Given the description of an element on the screen output the (x, y) to click on. 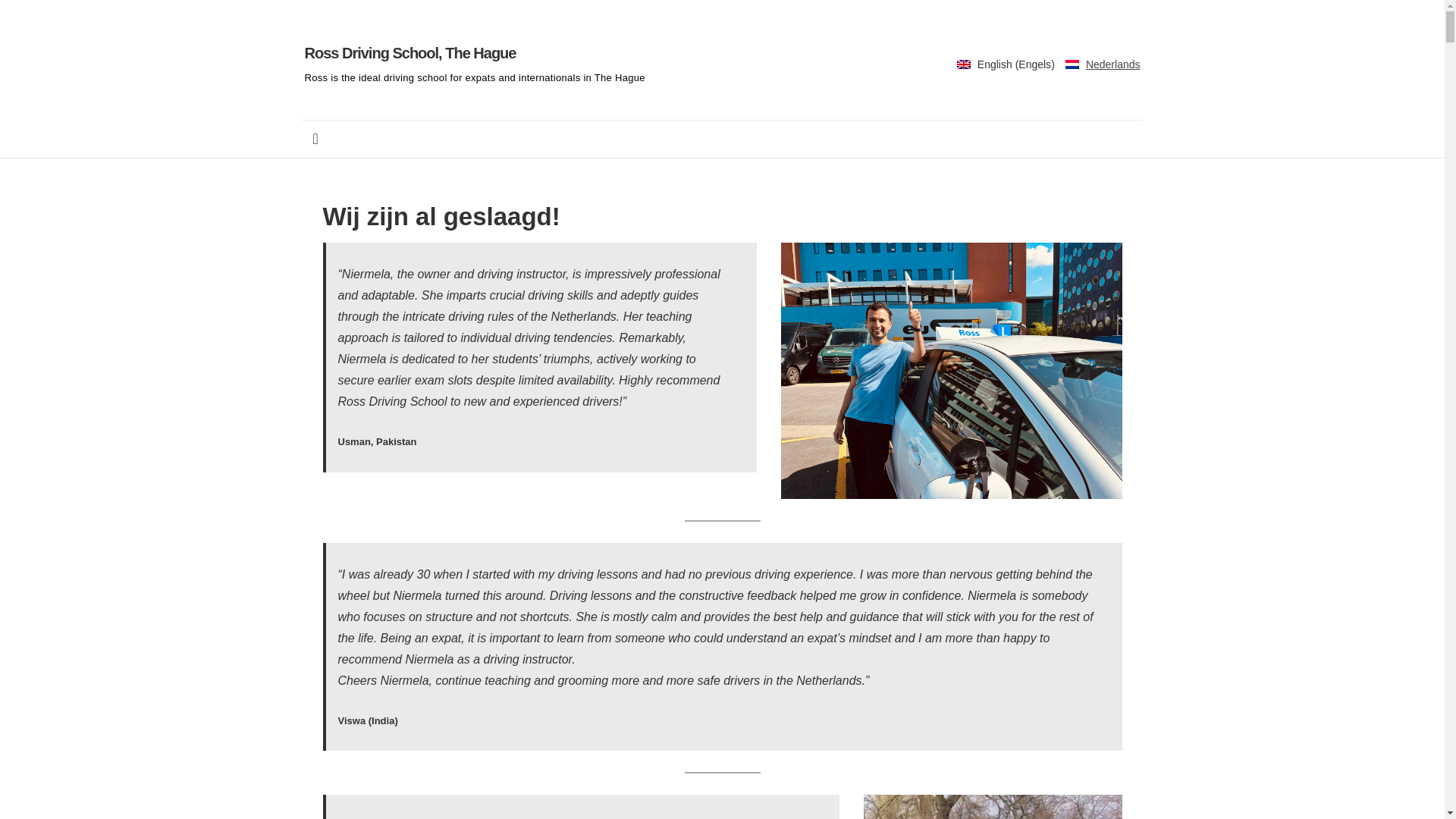
Nederlands (1102, 63)
Ross Driving School, The Hague (410, 53)
